Given the description of an element on the screen output the (x, y) to click on. 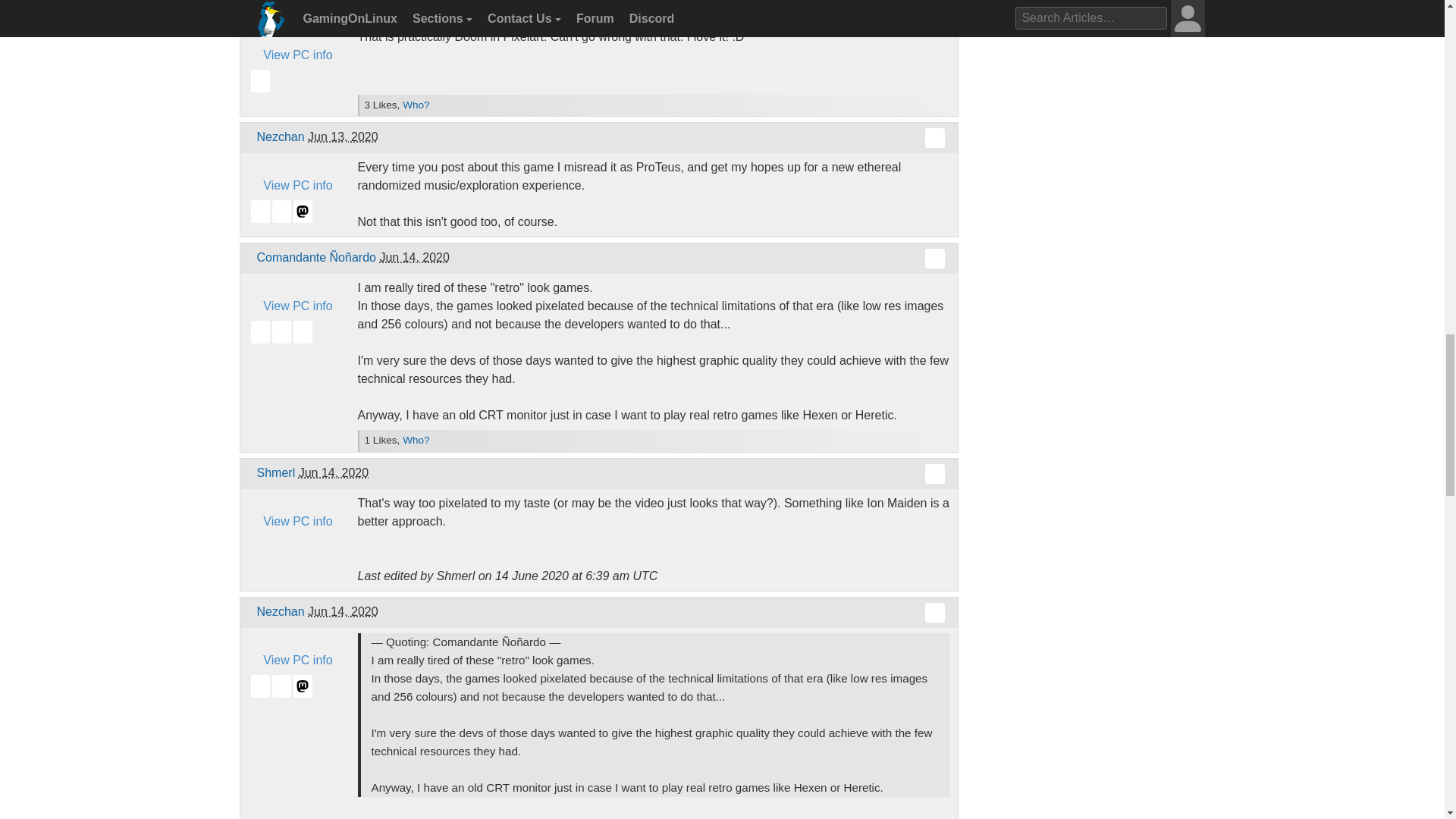
Link to this comment (934, 137)
Link to this comment (934, 474)
Link to this comment (934, 258)
Link to this comment (934, 8)
